Given the description of an element on the screen output the (x, y) to click on. 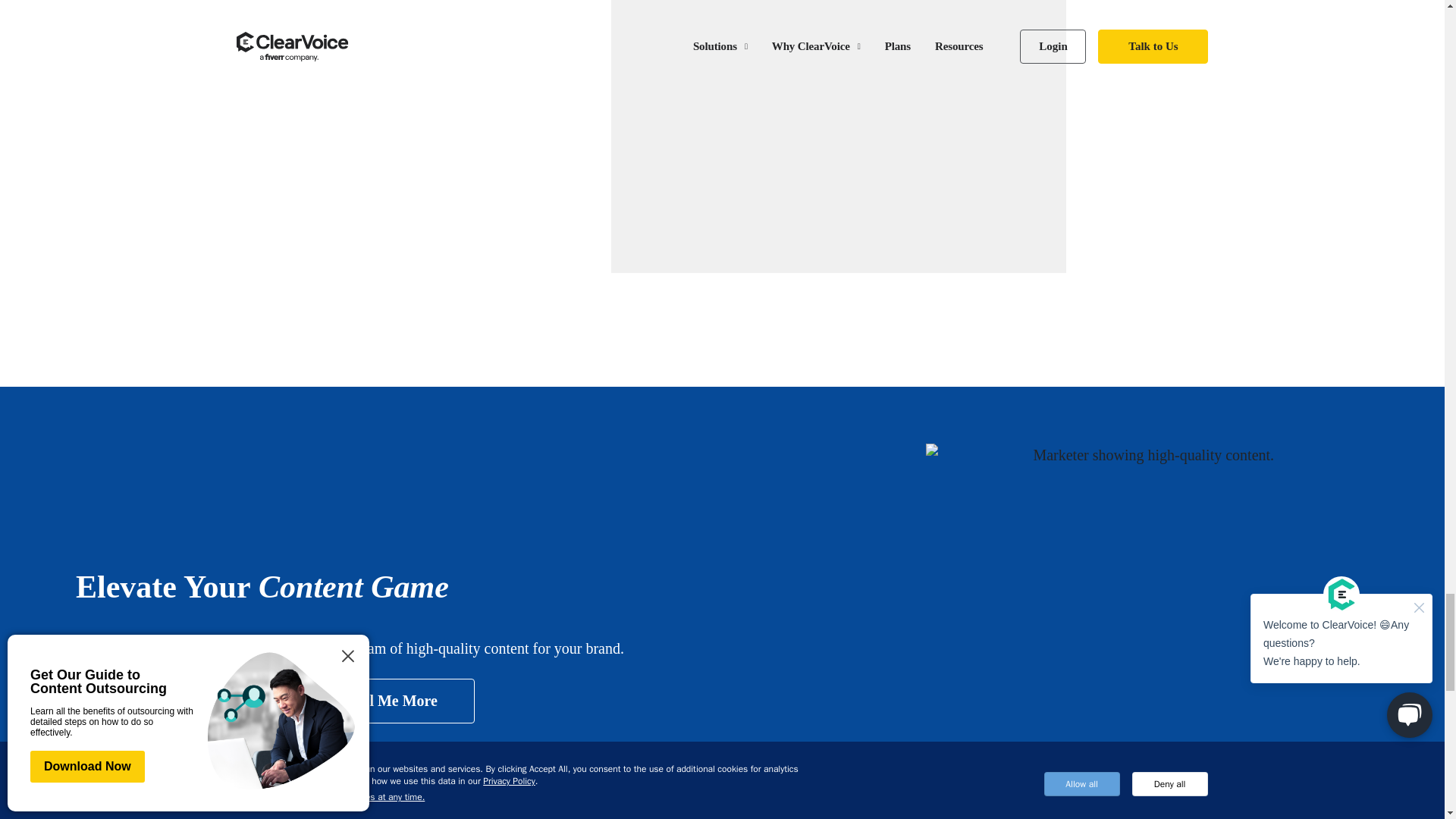
Form 0 (838, 117)
